Given the description of an element on the screen output the (x, y) to click on. 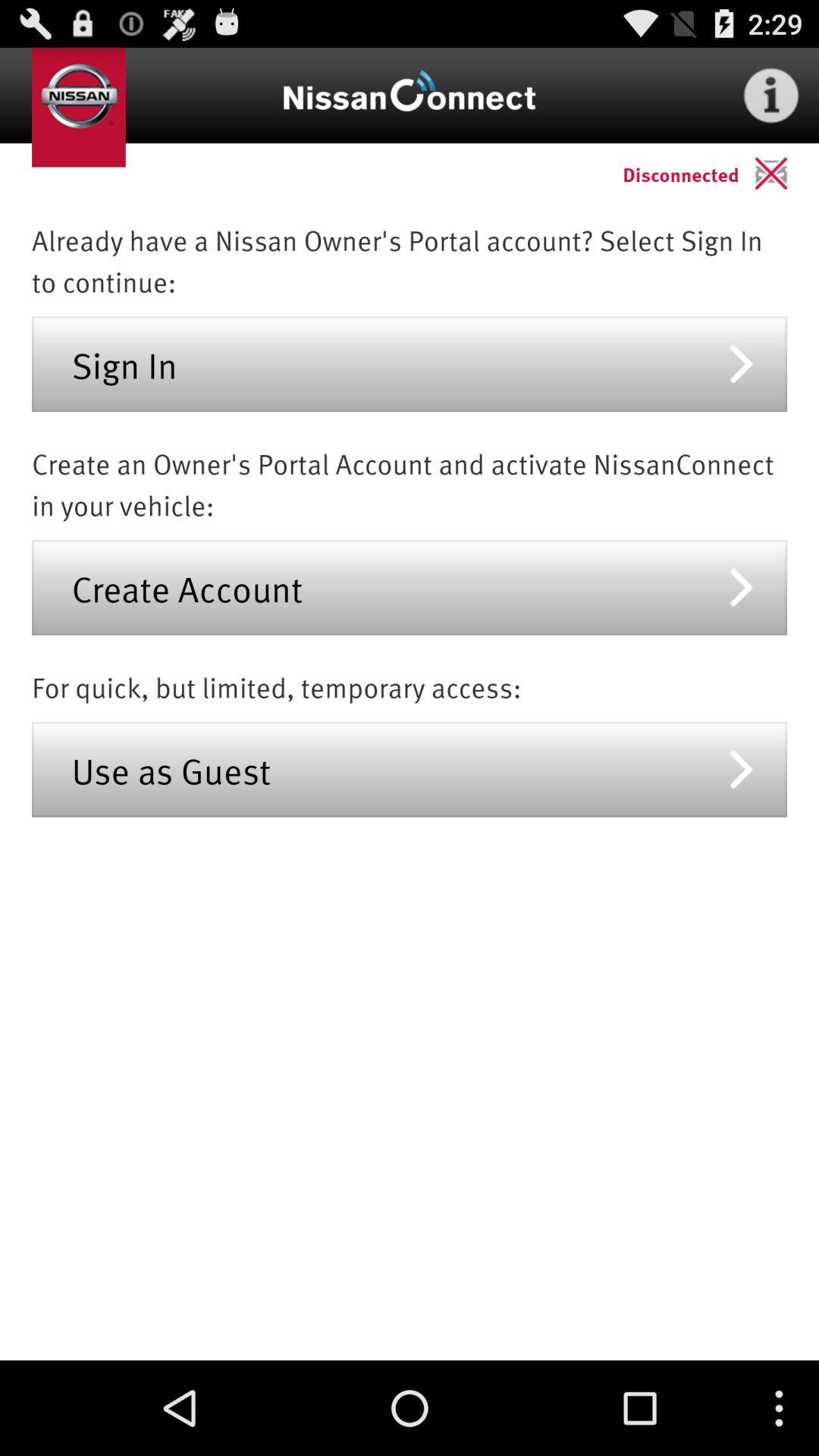
choose item next to the disconnected (787, 173)
